Given the description of an element on the screen output the (x, y) to click on. 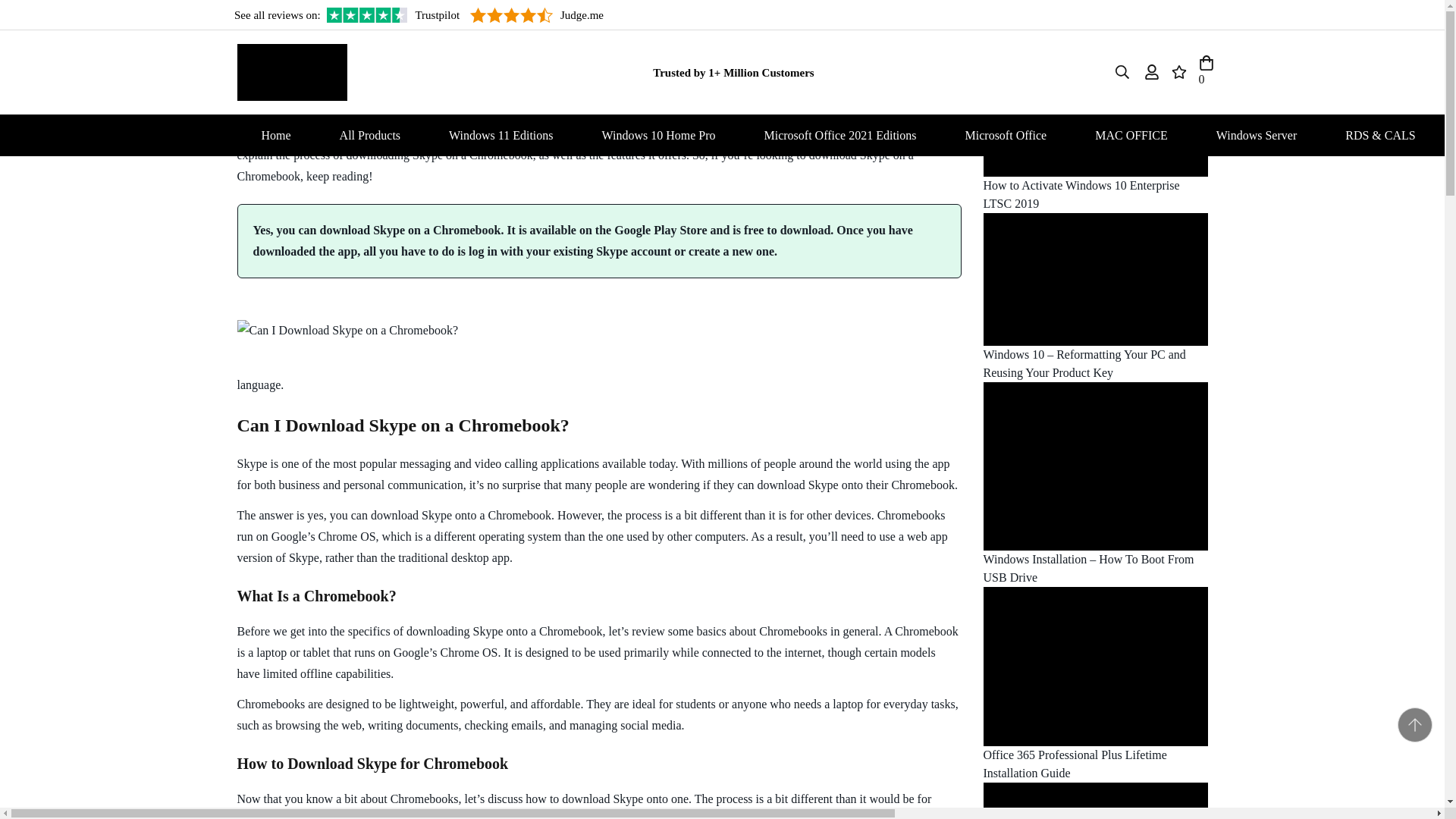
Judge.me (537, 14)
Microsoft Office (1005, 135)
Microsoft Office 2021 Editions (839, 135)
Windows 11 Editions (500, 135)
Trustpilot (393, 14)
Productkeys-uk (290, 72)
Windows 10 Home Pro (658, 135)
Home (274, 135)
All Products (370, 135)
MAC OFFICE (1131, 135)
